Given the description of an element on the screen output the (x, y) to click on. 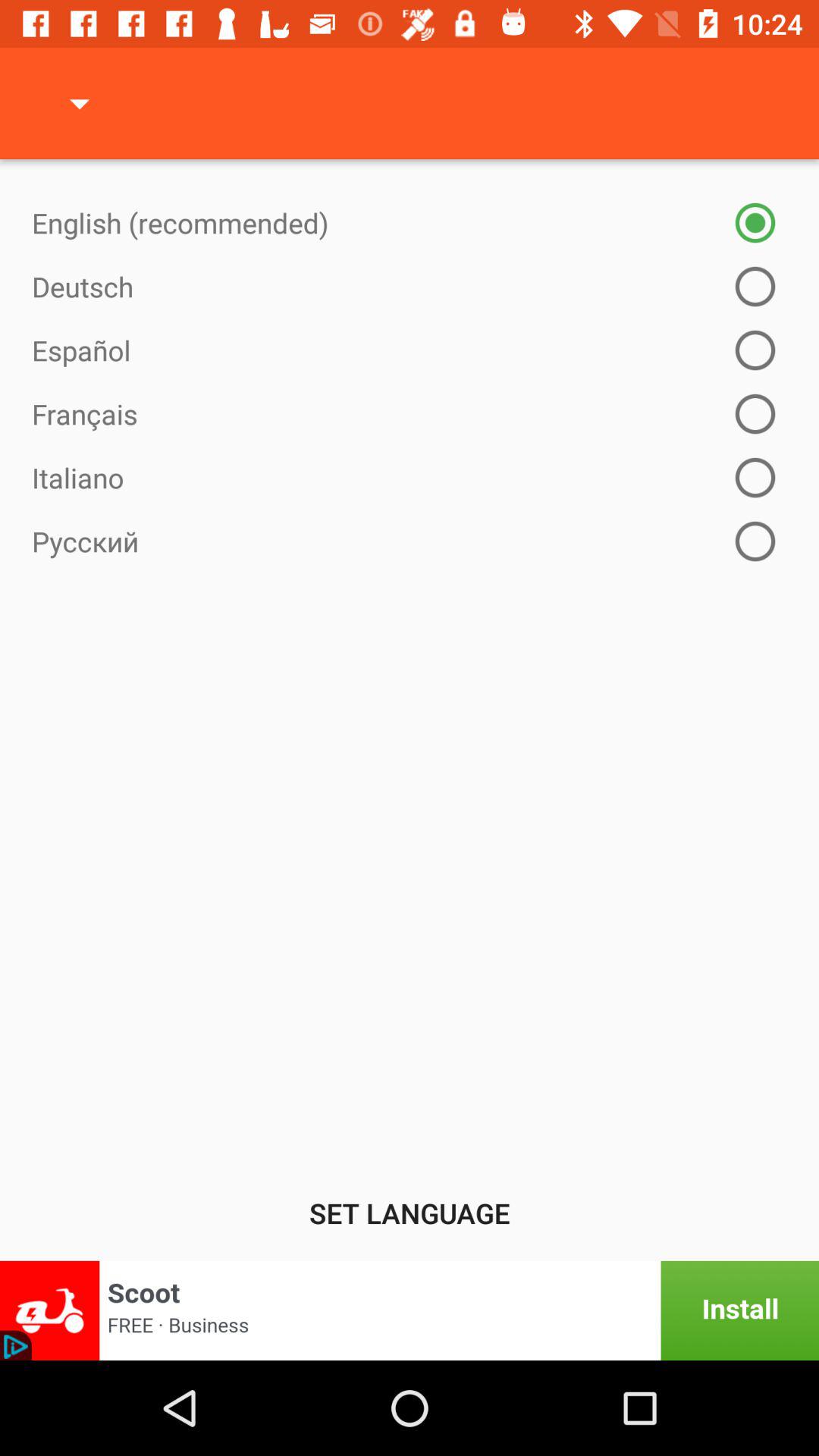
banner advertisement (409, 1310)
